Given the description of an element on the screen output the (x, y) to click on. 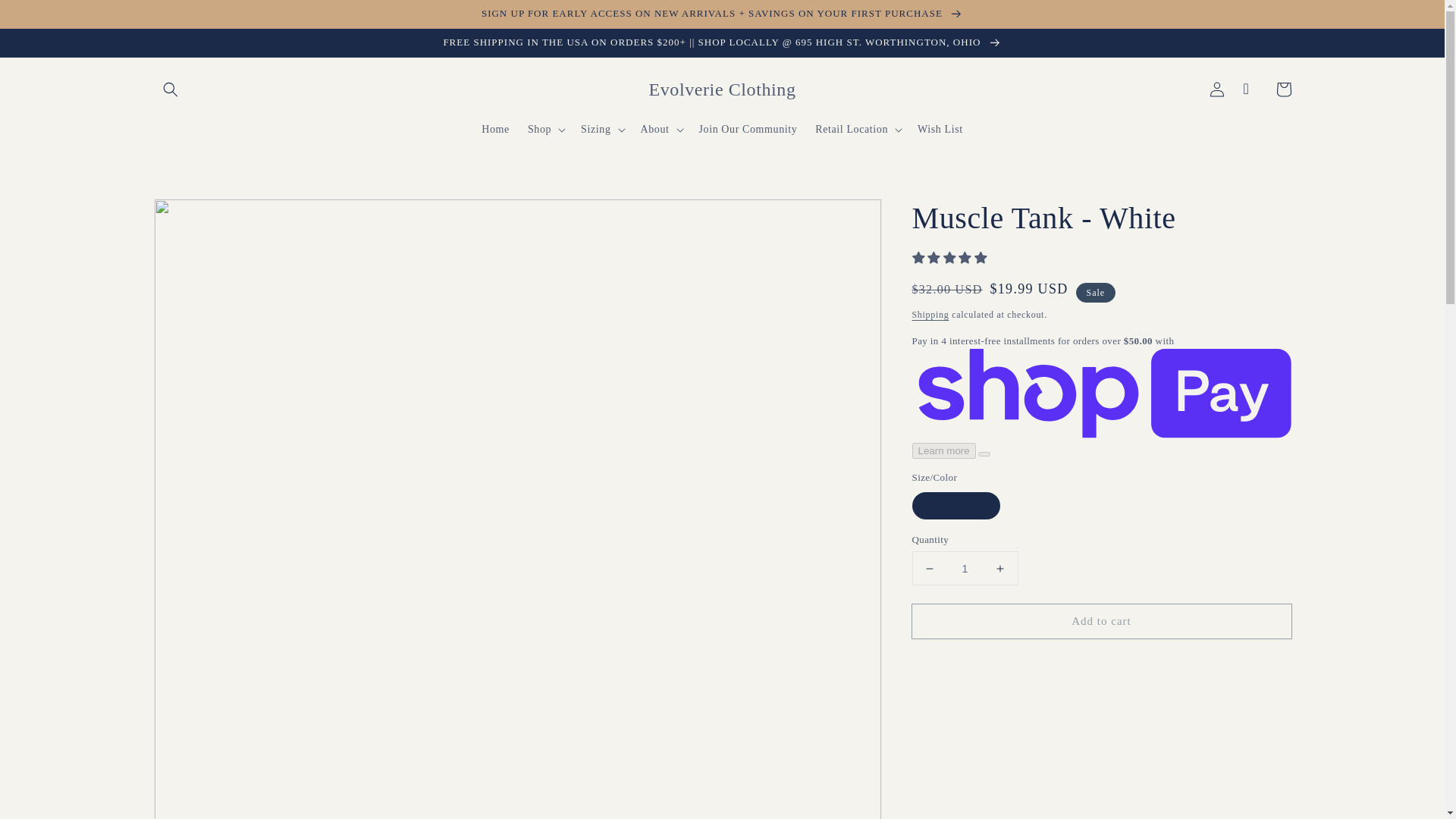
Home (494, 129)
1 (964, 568)
Evolverie Clothing (722, 89)
Skip to content (45, 16)
